Given the description of an element on the screen output the (x, y) to click on. 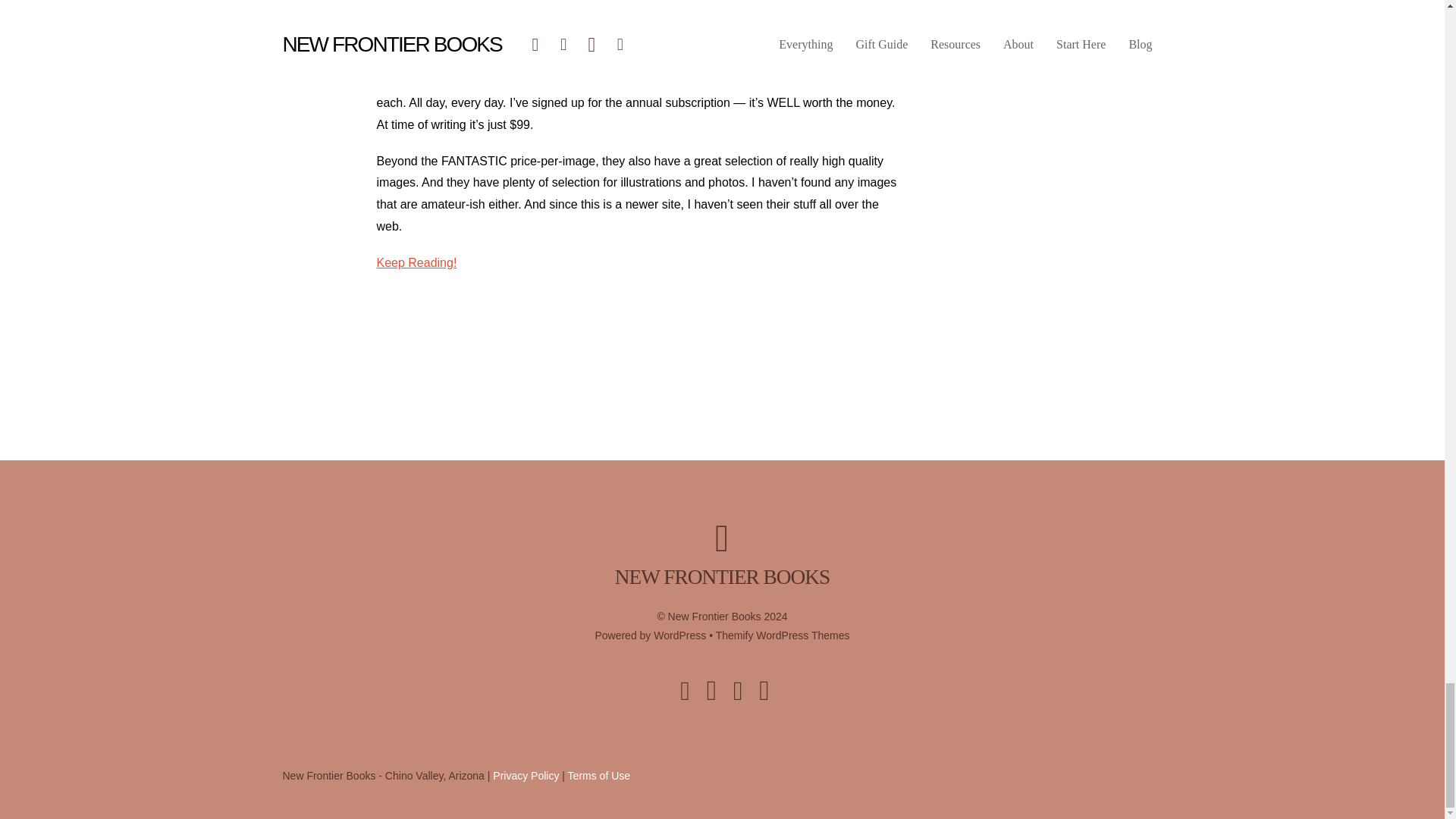
New Frontier Books (721, 576)
